Given the description of an element on the screen output the (x, y) to click on. 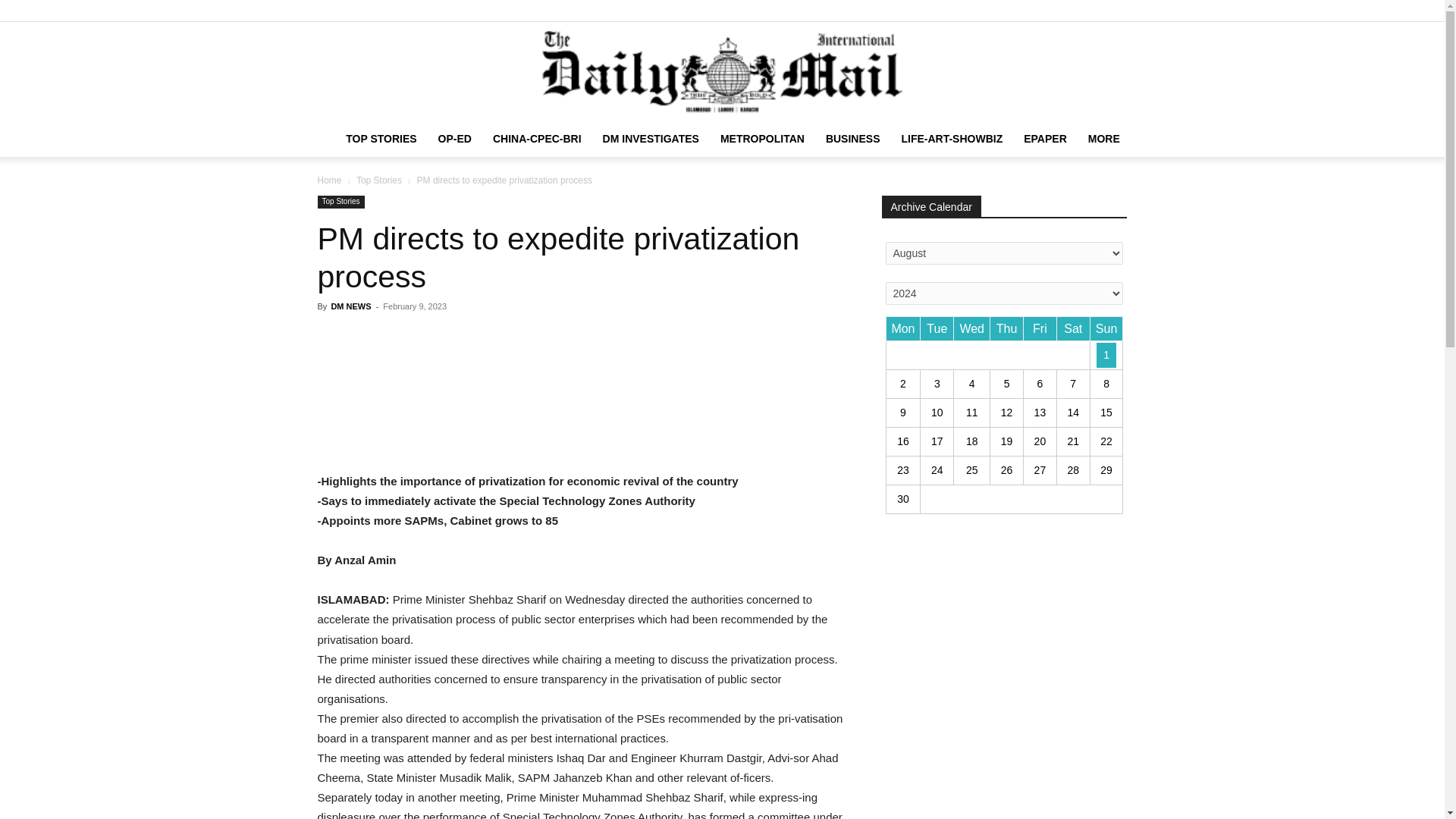
DM INVESTIGATES (651, 138)
METROPOLITAN (762, 138)
Thursday (1006, 328)
BUSINESS (853, 138)
Tuesday (936, 328)
MORE (1104, 138)
Wednesday (971, 328)
LIFE-ART-SHOWBIZ (951, 138)
EPAPER (1045, 138)
View all posts in Top Stories (378, 180)
